Given the description of an element on the screen output the (x, y) to click on. 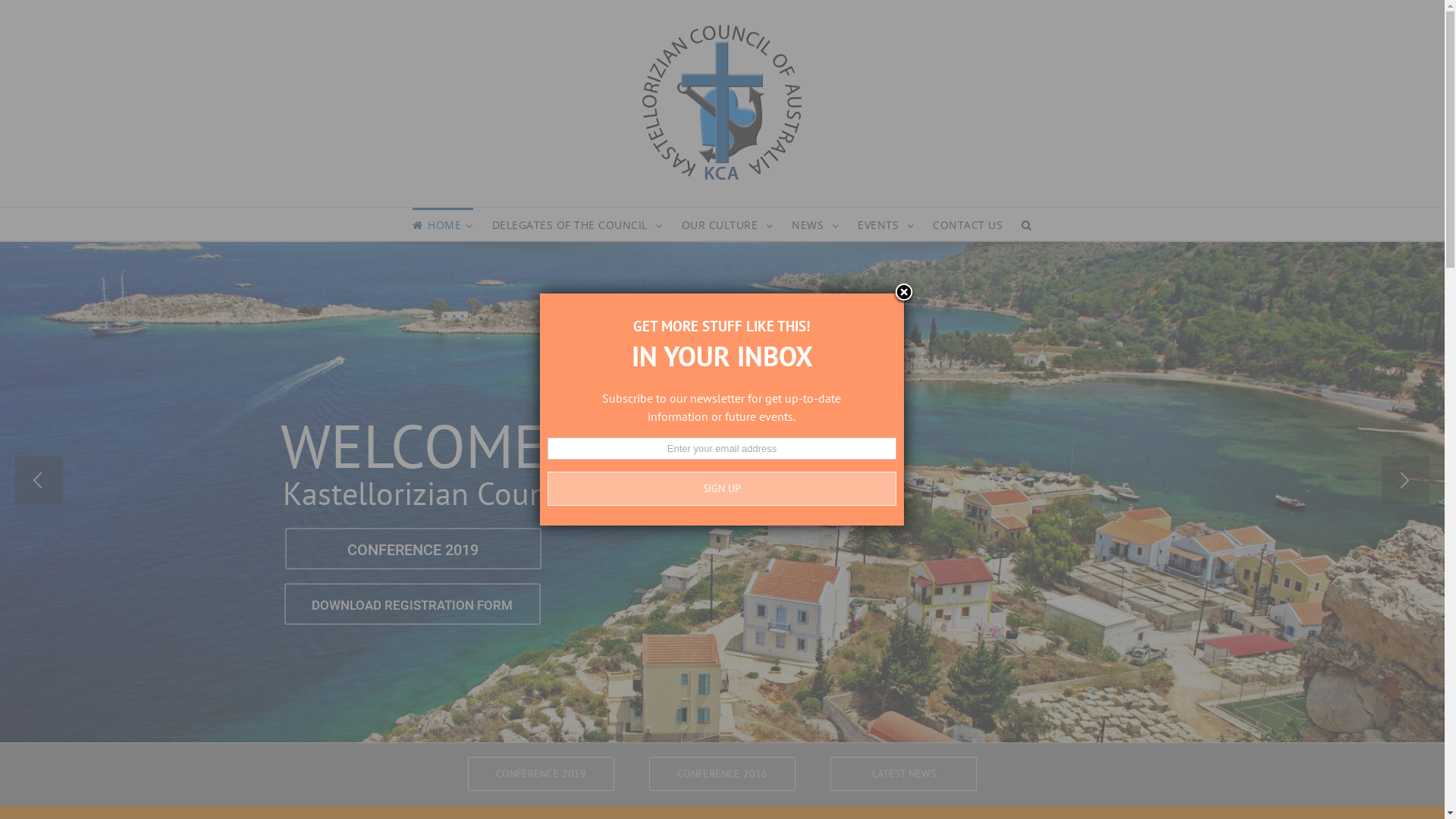
LATEST NEWS Element type: text (903, 773)
Search Element type: hover (1026, 223)
EVENTS Element type: text (885, 223)
OUR CULTURE Element type: text (727, 223)
CONTACT US Element type: text (967, 223)
DELEGATES OF THE COUNCIL Element type: text (577, 223)
HOME Element type: text (442, 223)
Sign up Element type: text (721, 488)
CONFERENCE 2019 Element type: text (540, 773)
CONFERENCE 2016 Element type: text (722, 773)
NEWS Element type: text (814, 223)
